Given the description of an element on the screen output the (x, y) to click on. 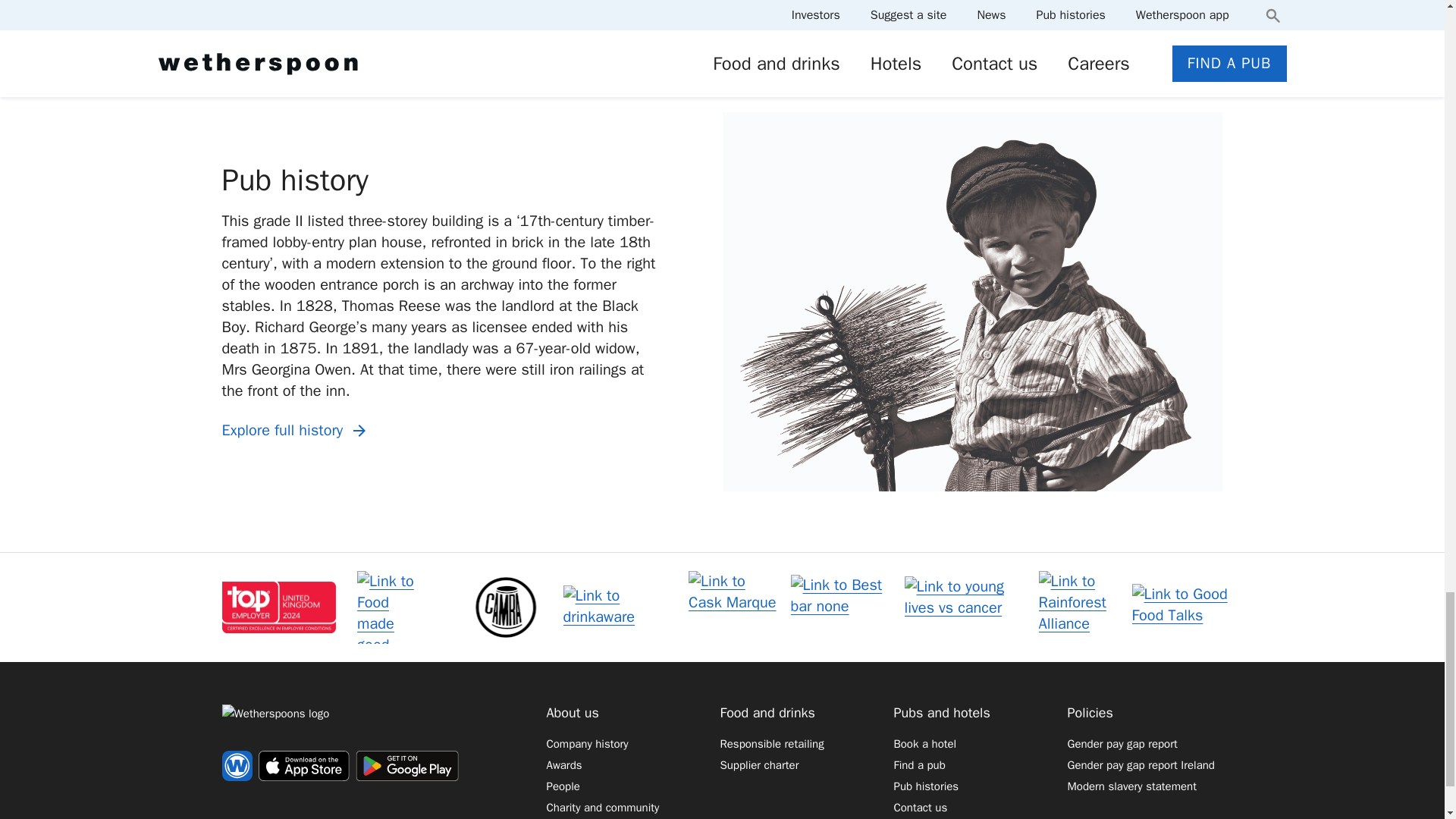
Explore full history (296, 430)
